Given the description of an element on the screen output the (x, y) to click on. 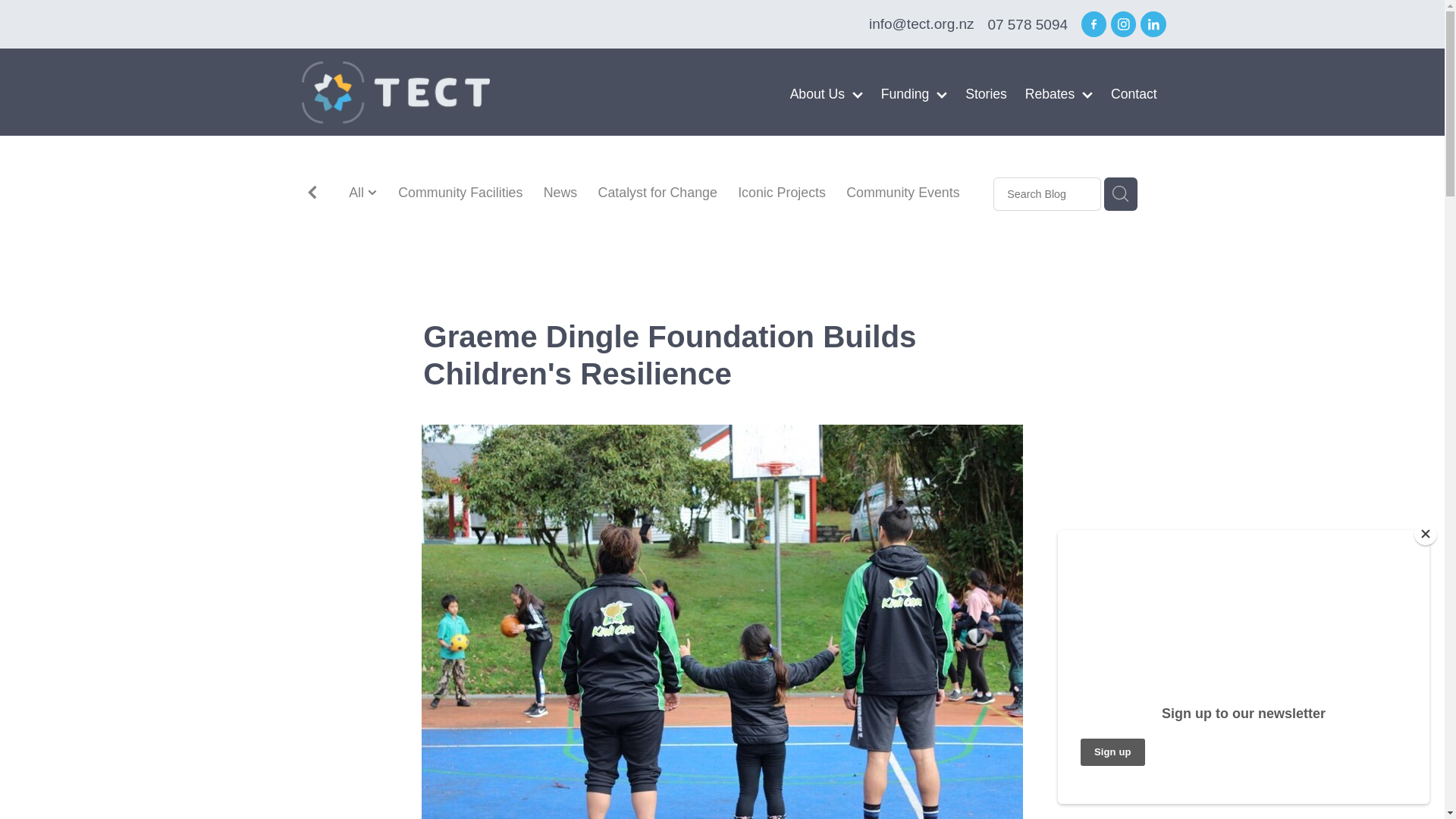
Community Development (424, 214)
Rebates (1059, 94)
Iconic Projects (781, 192)
Contact (1134, 94)
All (358, 192)
A link to this website's Facebook. (1093, 23)
Community Events (902, 192)
About Us (826, 94)
News (560, 192)
Funding (914, 94)
Stories (986, 94)
Community Facilities (459, 192)
A link to this website's LinkedIn. (1153, 23)
A link to this website's Instagram. (1122, 23)
Catalyst for Change (657, 192)
